Given the description of an element on the screen output the (x, y) to click on. 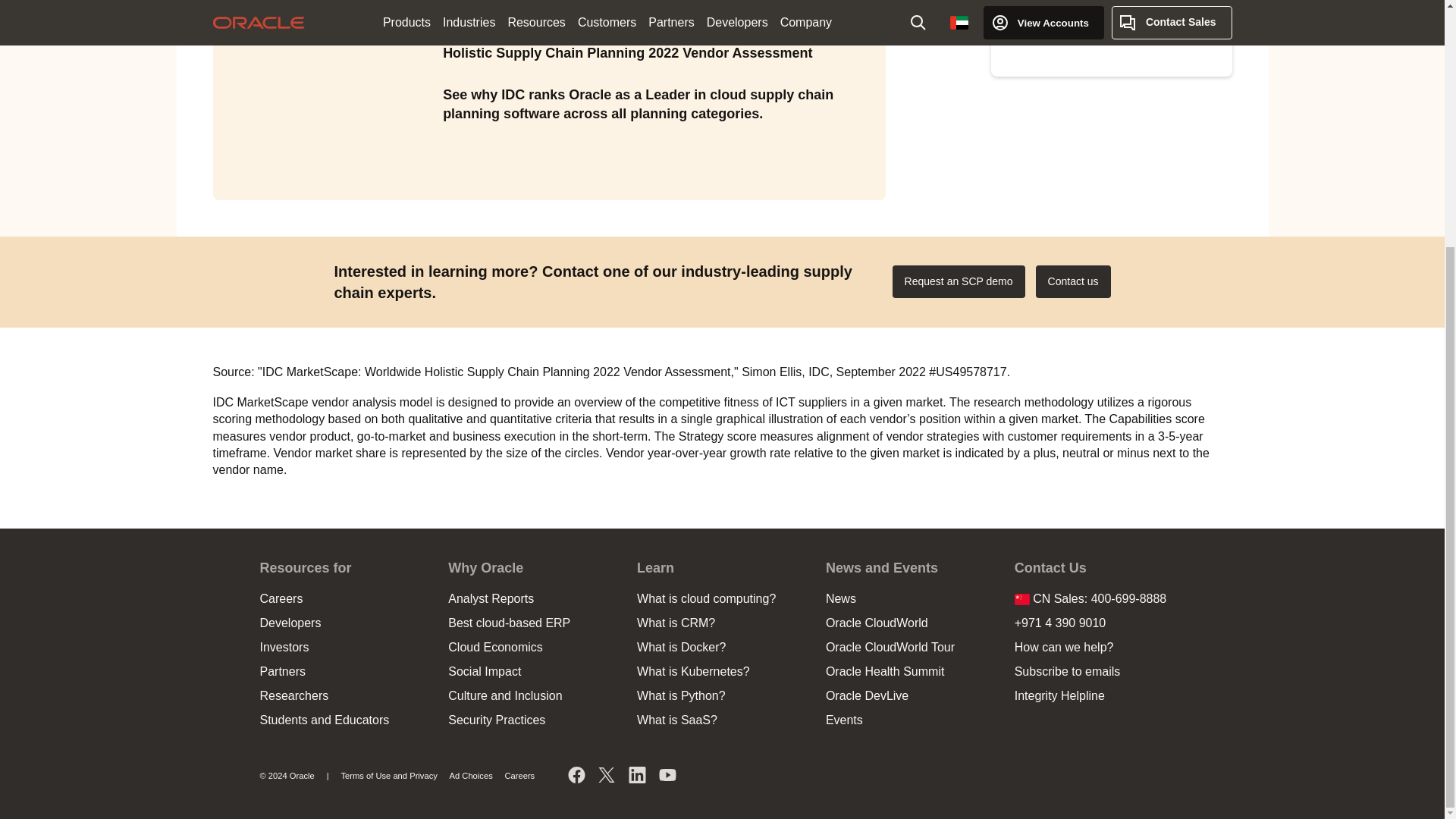
Request an SCP demo (958, 281)
Contact us (1072, 281)
Request an Oracle Supply Chain Planning demo (958, 281)
